Given the description of an element on the screen output the (x, y) to click on. 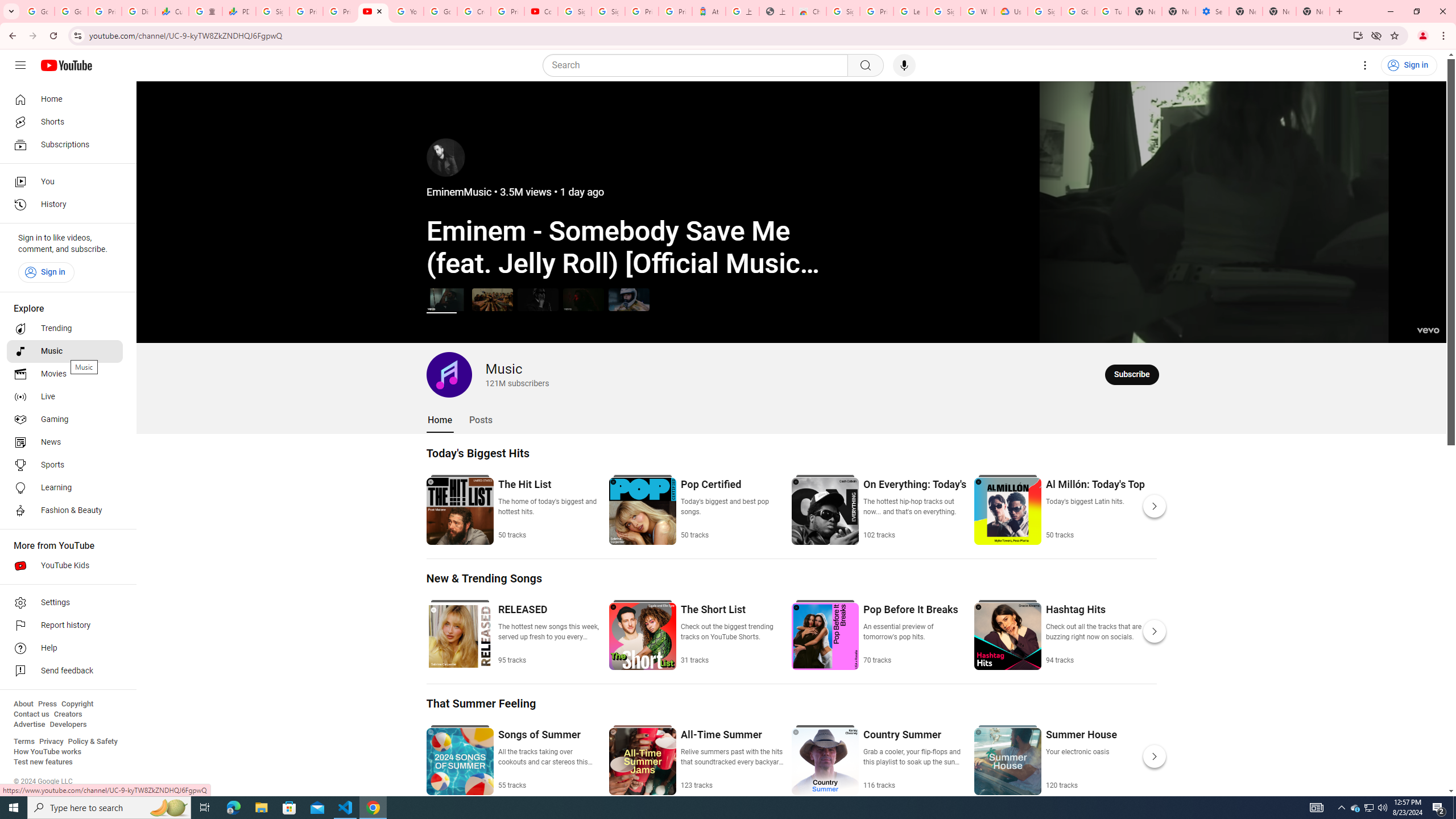
Today's Biggest Hits (477, 453)
The Music Channel - YouTube (372, 11)
YouTube (406, 11)
Chrome Web Store (809, 11)
News (64, 441)
Settings (64, 602)
Test new features (42, 761)
Shorts (64, 121)
Creators (67, 714)
A$AP Rocky - HIGHJACK (Official Video) (537, 299)
Developers (68, 724)
